Given the description of an element on the screen output the (x, y) to click on. 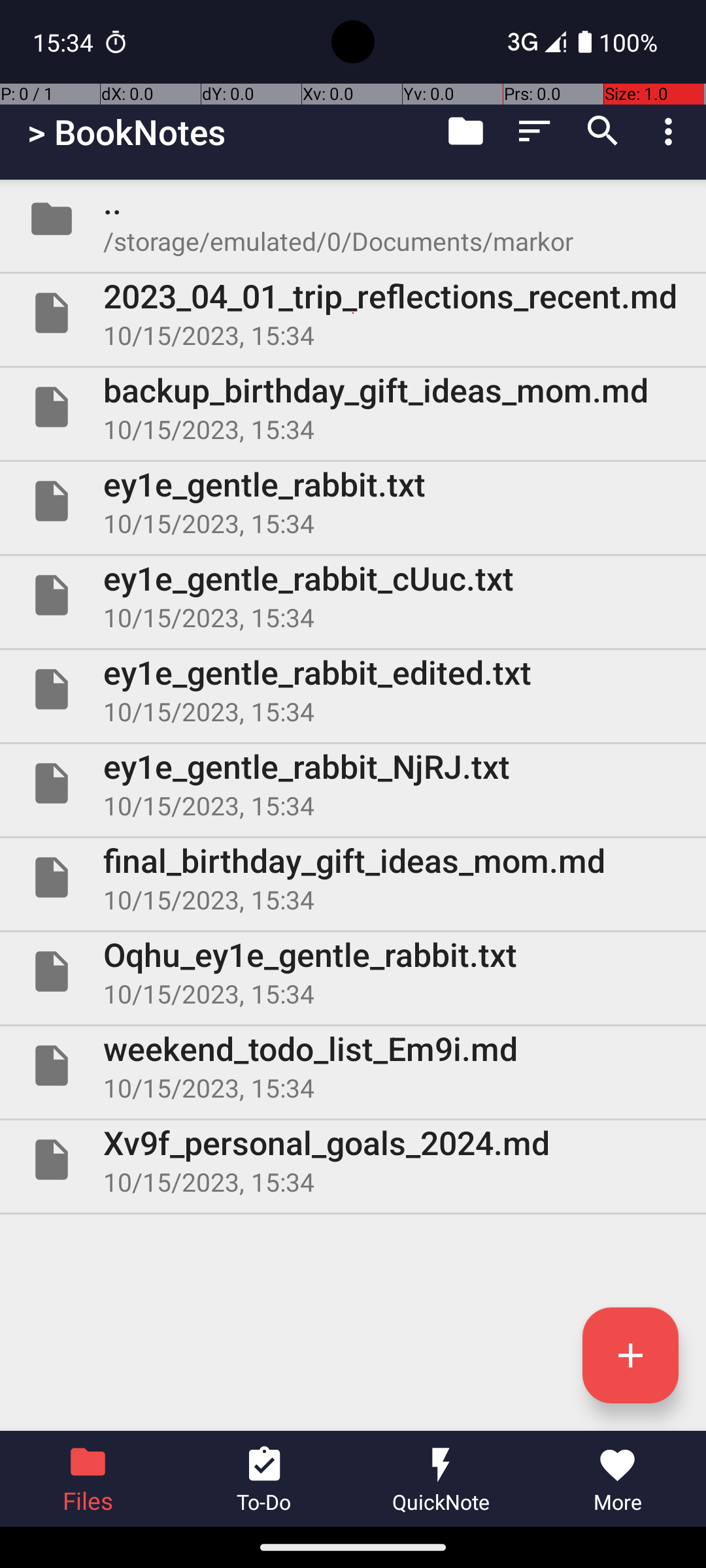
> BookNotes Element type: android.widget.TextView (126, 131)
Folder .. /storage/emulated/0/Documents Element type: android.widget.LinearLayout (353, 218)
File 2023_04_01_trip_reflections_recent.md 10/15/2023, 15:34 Element type: android.widget.LinearLayout (353, 312)
File backup_birthday_gift_ideas_mom.md 10/15/2023, 15:34 Element type: android.widget.LinearLayout (353, 406)
File ey1e_gentle_rabbit.txt  Element type: android.widget.LinearLayout (353, 500)
File ey1e_gentle_rabbit_cUuc.txt  Element type: android.widget.LinearLayout (353, 594)
File ey1e_gentle_rabbit_edited.txt  Element type: android.widget.LinearLayout (353, 689)
File ey1e_gentle_rabbit_NjRJ.txt  Element type: android.widget.LinearLayout (353, 783)
File final_birthday_gift_ideas_mom.md  Element type: android.widget.LinearLayout (353, 877)
File Oqhu_ey1e_gentle_rabbit.txt  Element type: android.widget.LinearLayout (353, 971)
File weekend_todo_list_Em9i.md  Element type: android.widget.LinearLayout (353, 1065)
File Xv9f_personal_goals_2024.md  Element type: android.widget.LinearLayout (353, 1159)
